Given the description of an element on the screen output the (x, y) to click on. 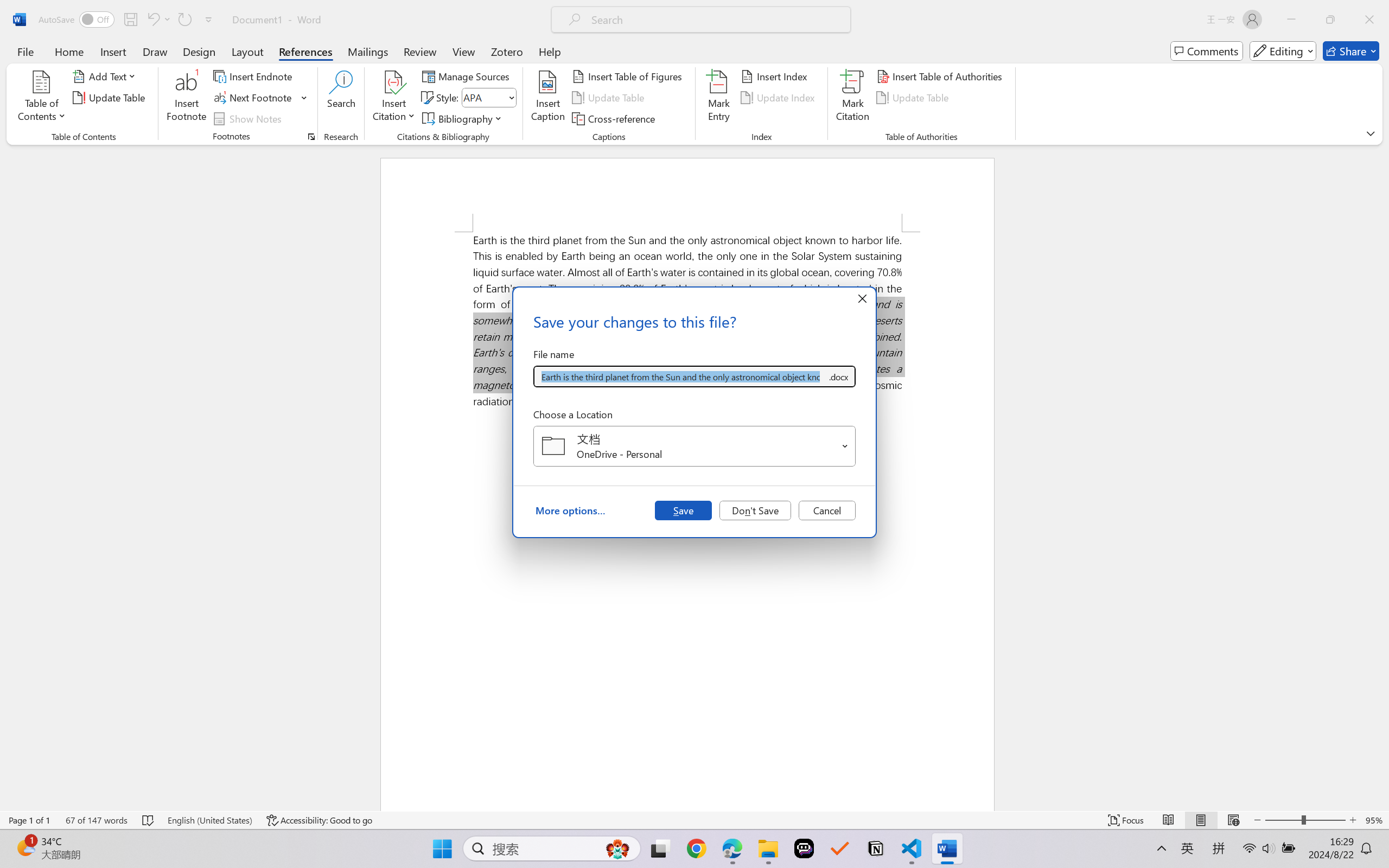
Style (483, 96)
Undo Italic (152, 19)
File name (680, 376)
Notion (875, 848)
Page Number Page 1 of 1 (29, 819)
Update Index (778, 97)
Cancel (826, 509)
Insert Caption... (547, 97)
